Given the description of an element on the screen output the (x, y) to click on. 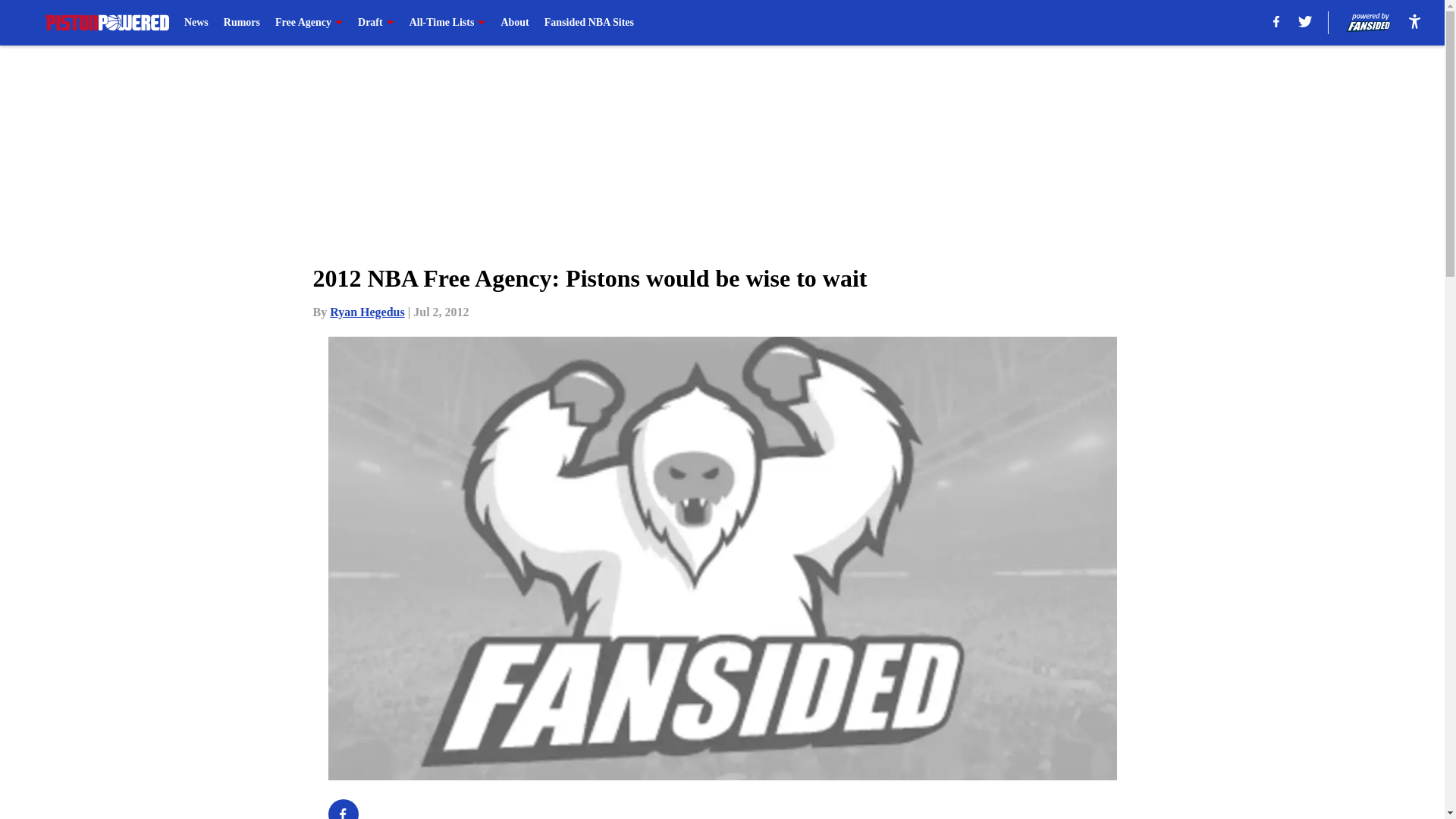
Rumors (242, 22)
News (196, 22)
Fansided NBA Sites (588, 22)
About (514, 22)
All-Time Lists (447, 22)
Ryan Hegedus (367, 311)
Draft (376, 22)
Free Agency (308, 22)
